Given the description of an element on the screen output the (x, y) to click on. 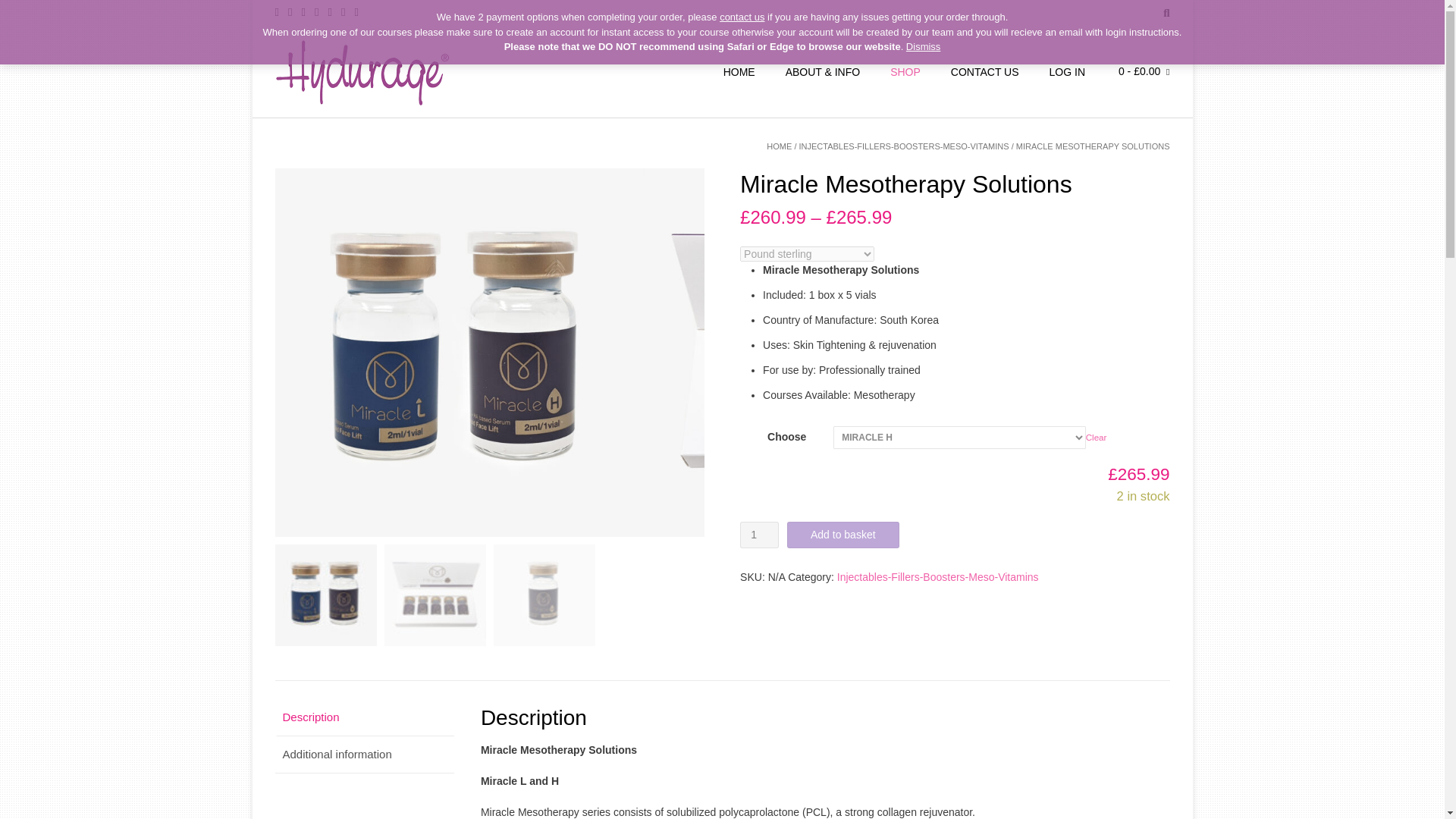
Clear (1096, 437)
INJECTABLES-FILLERS-BOOSTERS-MESO-VITAMINS (904, 145)
Injectables-Fillers-Boosters-Meso-Vitamins (938, 576)
1 (758, 534)
CONTACT US (984, 71)
HOME (779, 145)
Add to basket (843, 534)
